Given the description of an element on the screen output the (x, y) to click on. 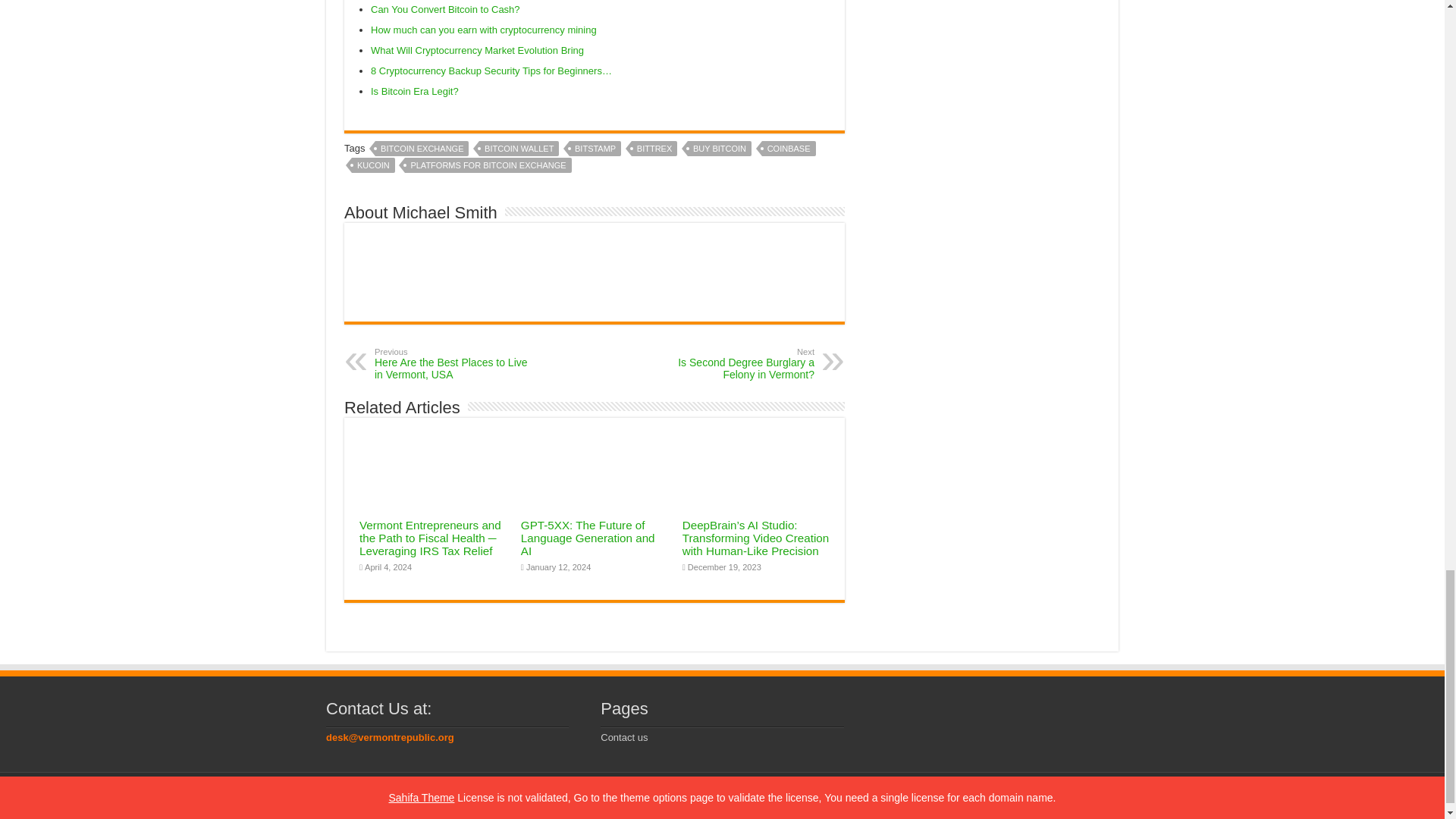
BITCOIN WALLET (519, 148)
BITCOIN EXCHANGE (421, 148)
BUY BITCOIN (719, 148)
BITTREX (654, 148)
How much can you earn with cryptocurrency mining (483, 30)
BITSTAMP (595, 148)
Is Bitcoin Era Legit?  (416, 91)
Can You Convert Bitcoin to Cash? (445, 9)
What Will Cryptocurrency Market Evolution Bring (477, 50)
COINBASE (788, 148)
